Given the description of an element on the screen output the (x, y) to click on. 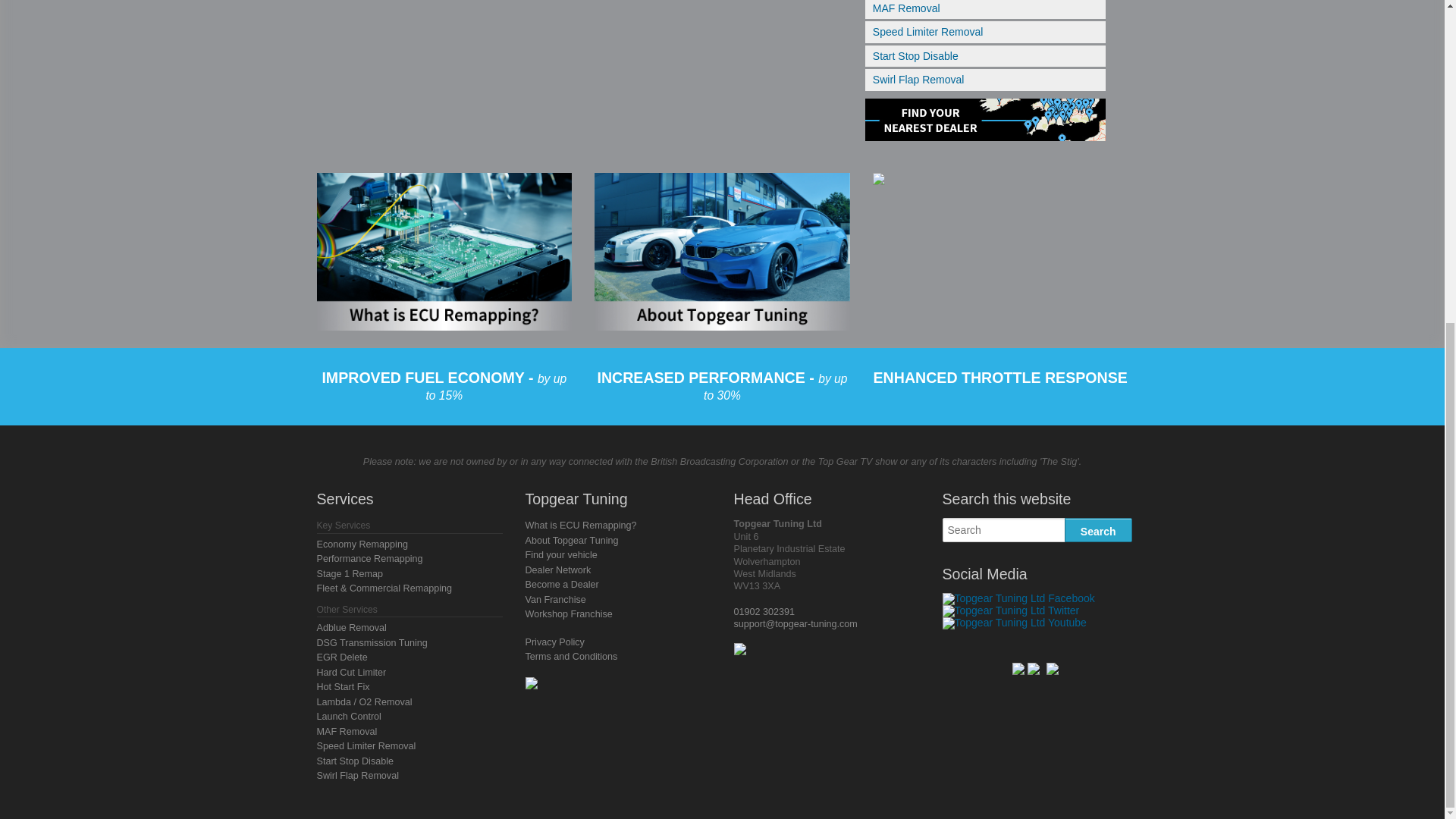
Topgear Tuning Ltd Youtube (1014, 623)
Topgear Tuning Ltd Facebook (1018, 598)
Search (1098, 529)
Topgear Tuning Ltd Twitter (1010, 611)
